Given the description of an element on the screen output the (x, y) to click on. 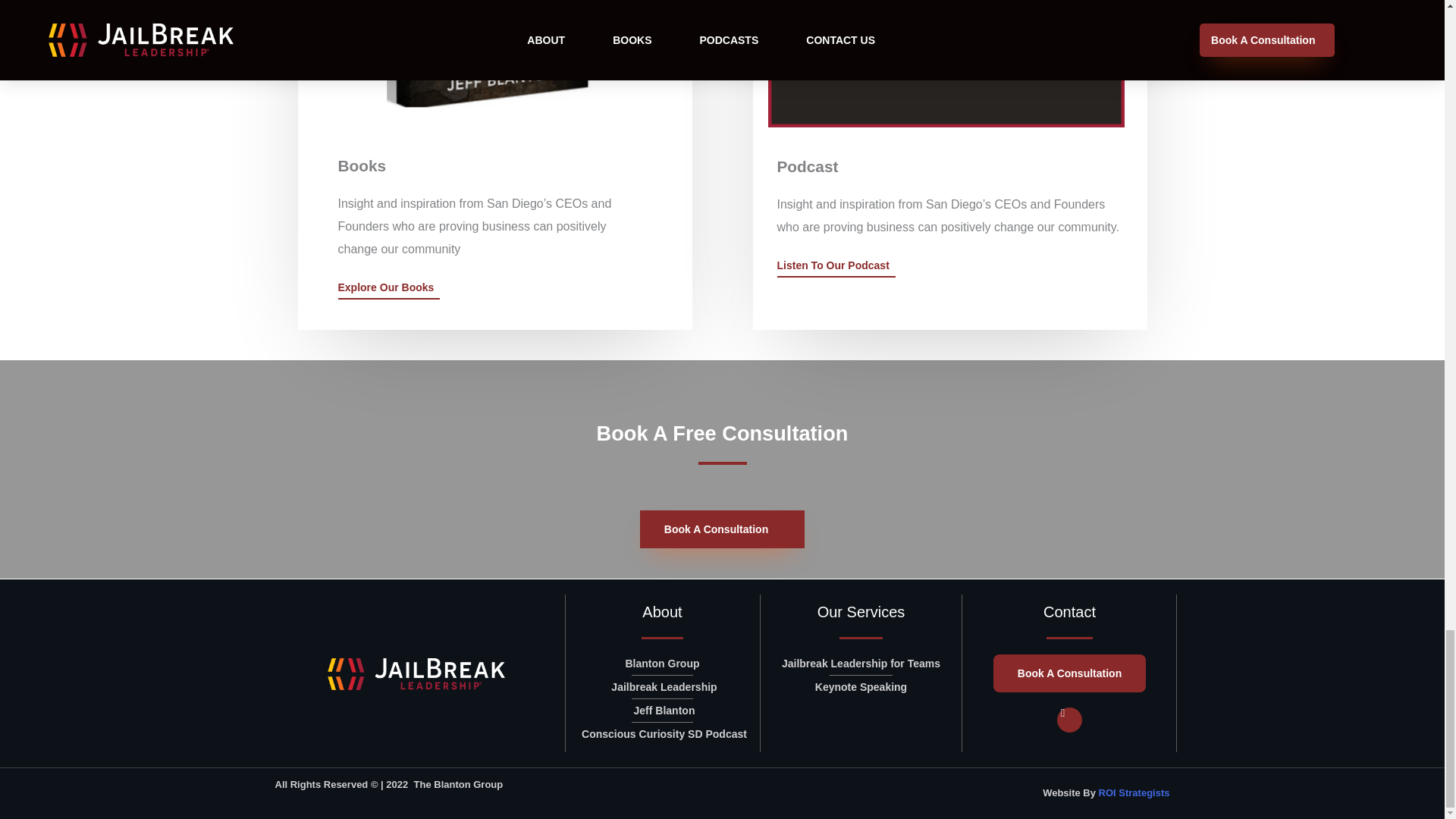
Explore Our Books (389, 290)
Listen To Our Podcast (835, 268)
Book A Consultation (722, 528)
